Given the description of an element on the screen output the (x, y) to click on. 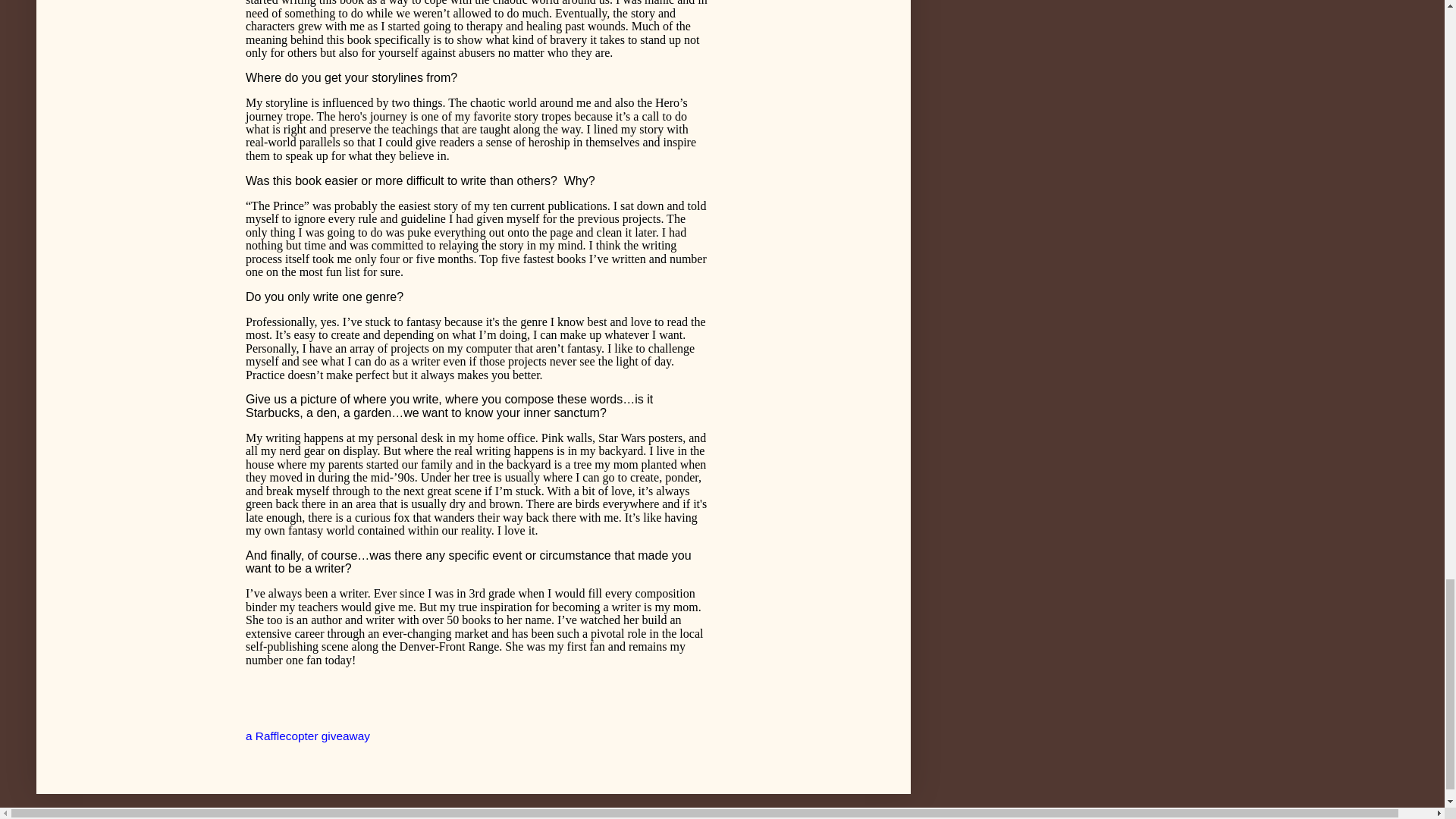
a Rafflecopter giveaway (307, 735)
